Given the description of an element on the screen output the (x, y) to click on. 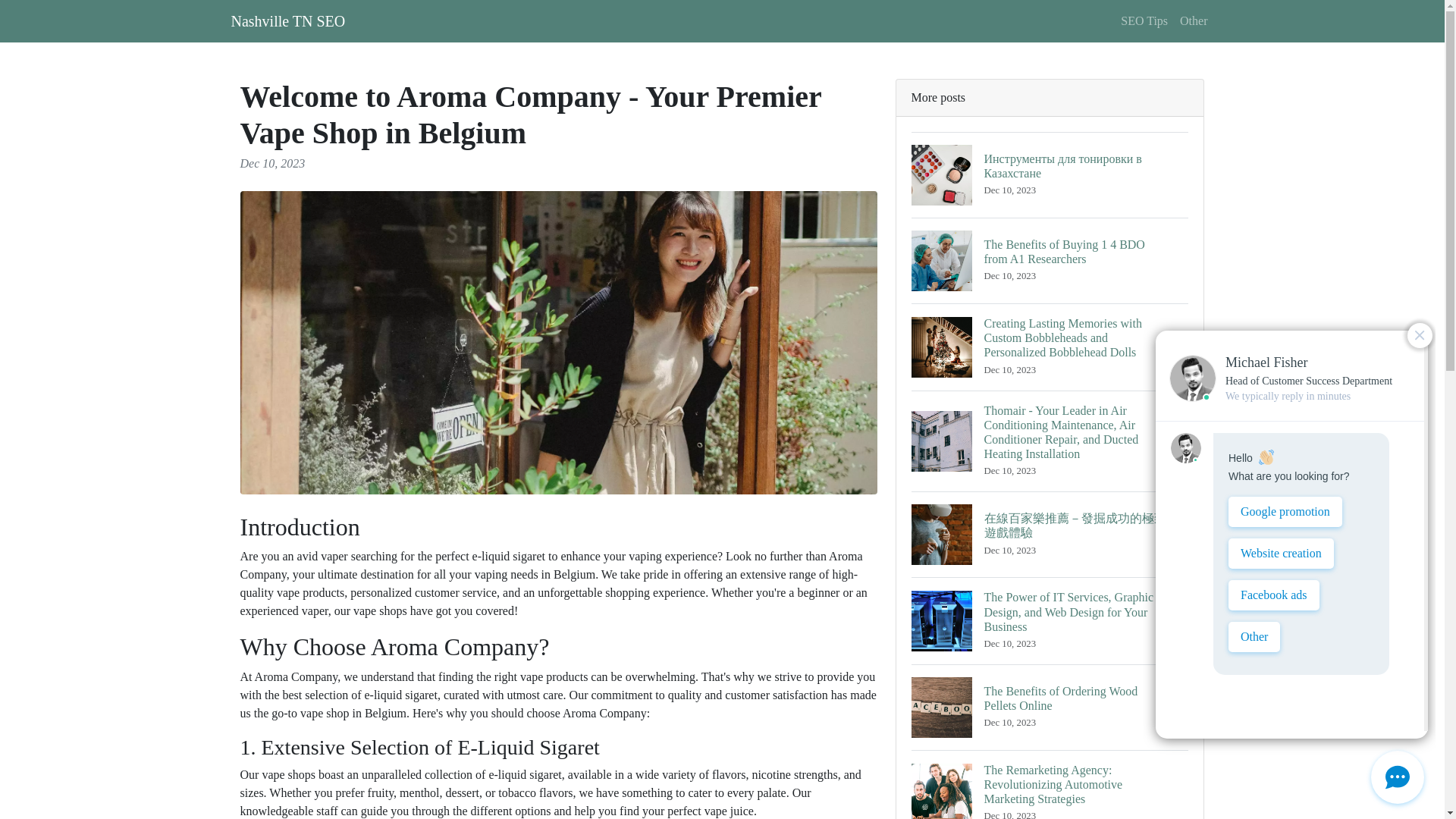
SEO Tips (1050, 707)
Nashville TN SEO (1144, 20)
Other (287, 20)
